Given the description of an element on the screen output the (x, y) to click on. 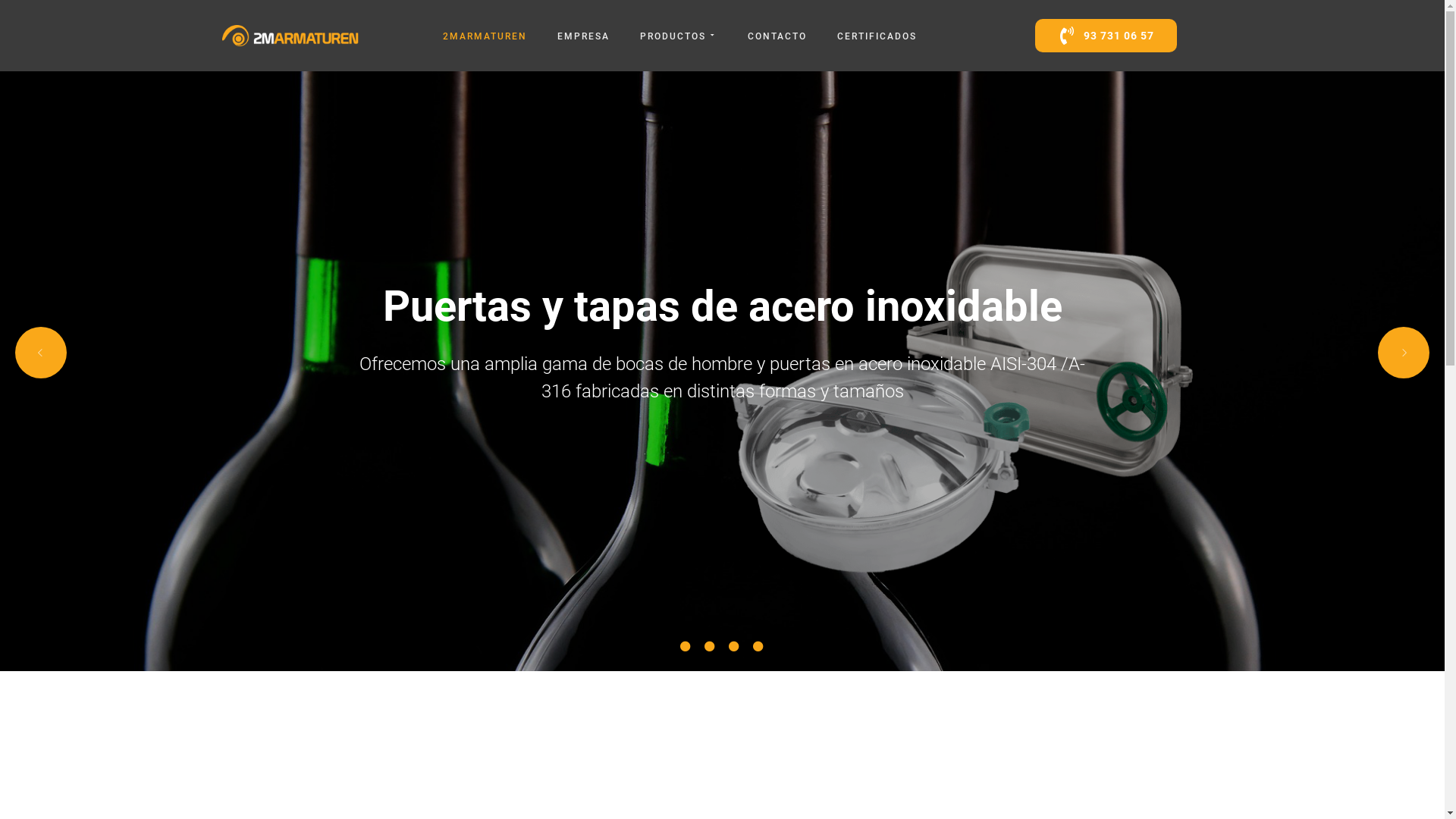
CONTACTO Element type: text (777, 35)
93 731 06 57 Element type: text (1105, 35)
PRODUCTOS Element type: text (678, 35)
EMPRESA Element type: text (583, 35)
CERTIFICADOS Element type: text (876, 35)
2MARMATUREN Element type: text (484, 35)
